Given the description of an element on the screen output the (x, y) to click on. 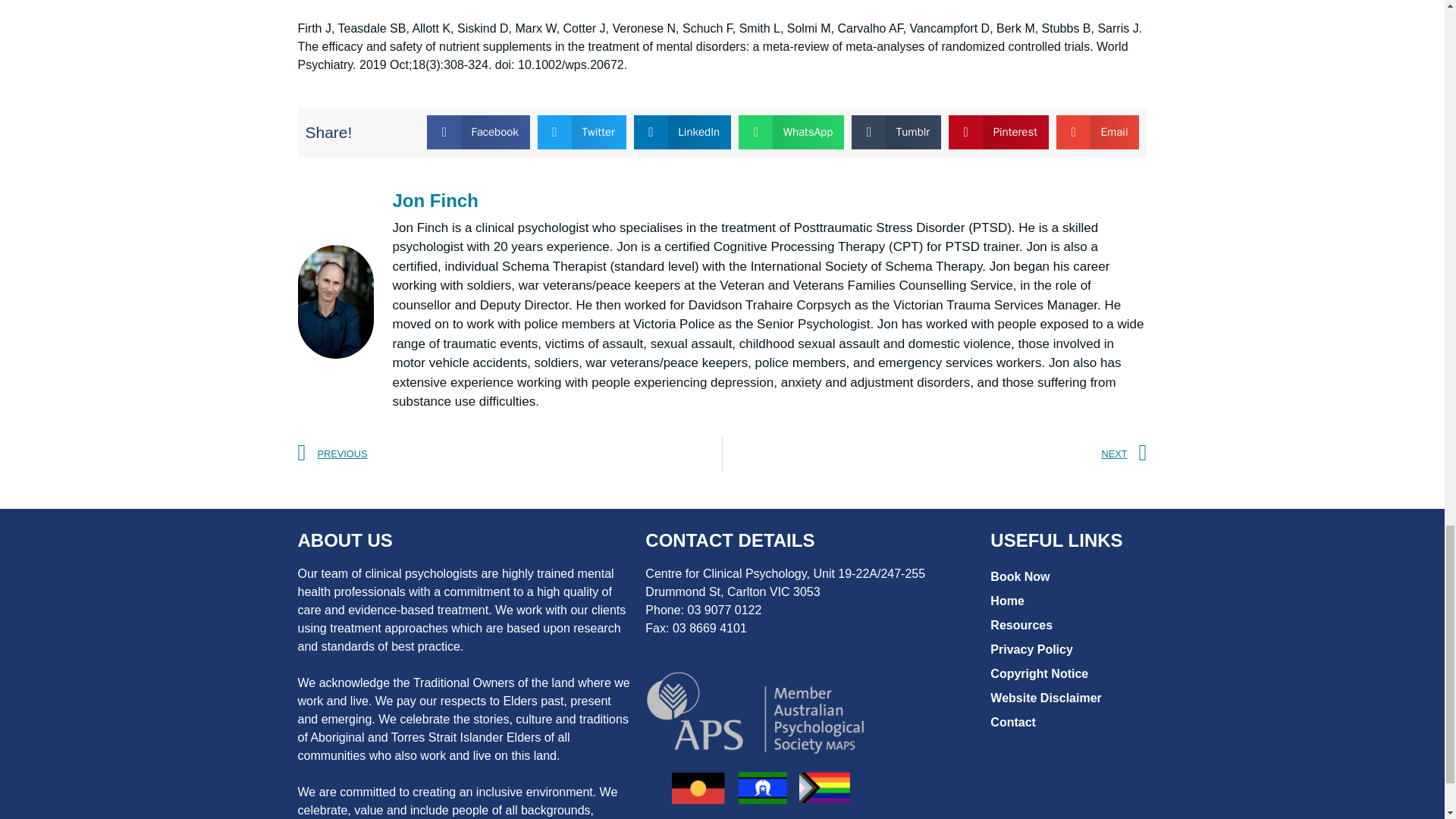
Website Disclaimer (1066, 698)
Contact (1066, 722)
PREVIOUS (509, 453)
Book Now (1066, 576)
Resources (1066, 625)
Home (1066, 600)
Copyright Notice (1066, 673)
NEXT (934, 453)
Privacy Policy (1066, 649)
